Given the description of an element on the screen output the (x, y) to click on. 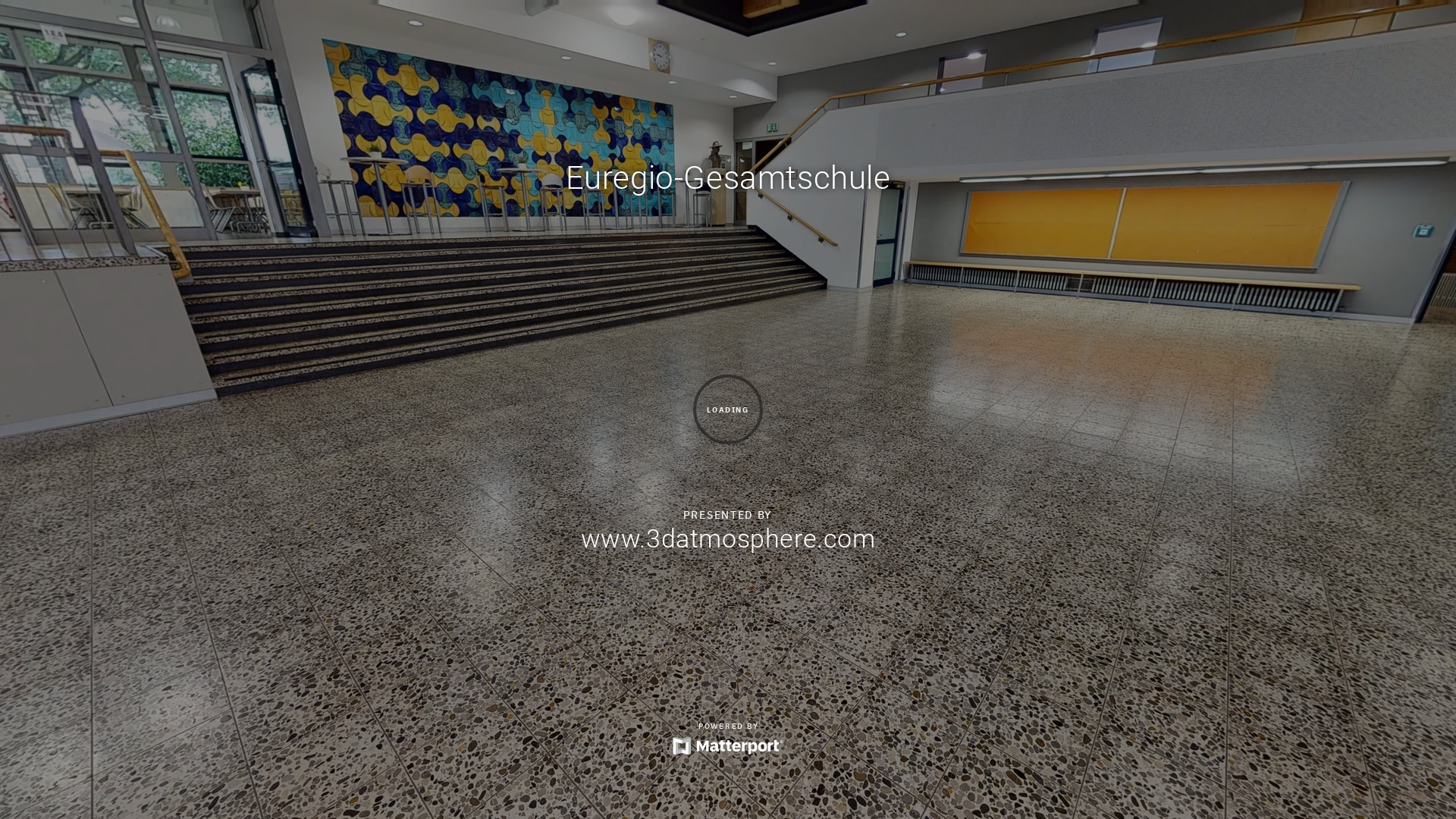
Help Element type: text (1332, 806)
Terms Element type: text (1365, 806)
